Given the description of an element on the screen output the (x, y) to click on. 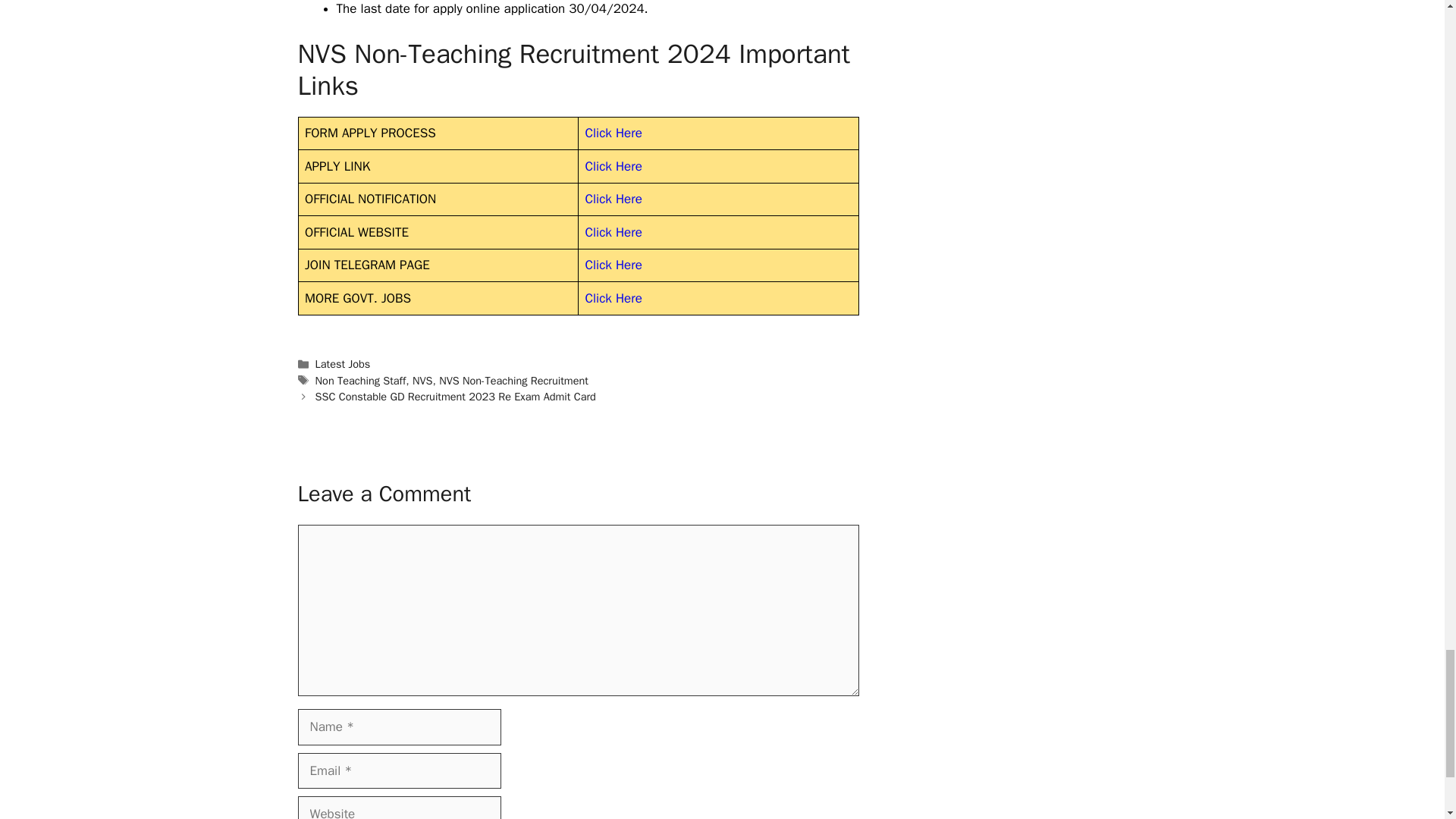
Non Teaching Staff (360, 380)
Click Here (613, 166)
NVS (422, 380)
SSC Constable GD Recruitment 2023 Re Exam Admit Card (455, 396)
NVS Non-Teaching Recruitment (513, 380)
Latest Jobs (343, 364)
